Given the description of an element on the screen output the (x, y) to click on. 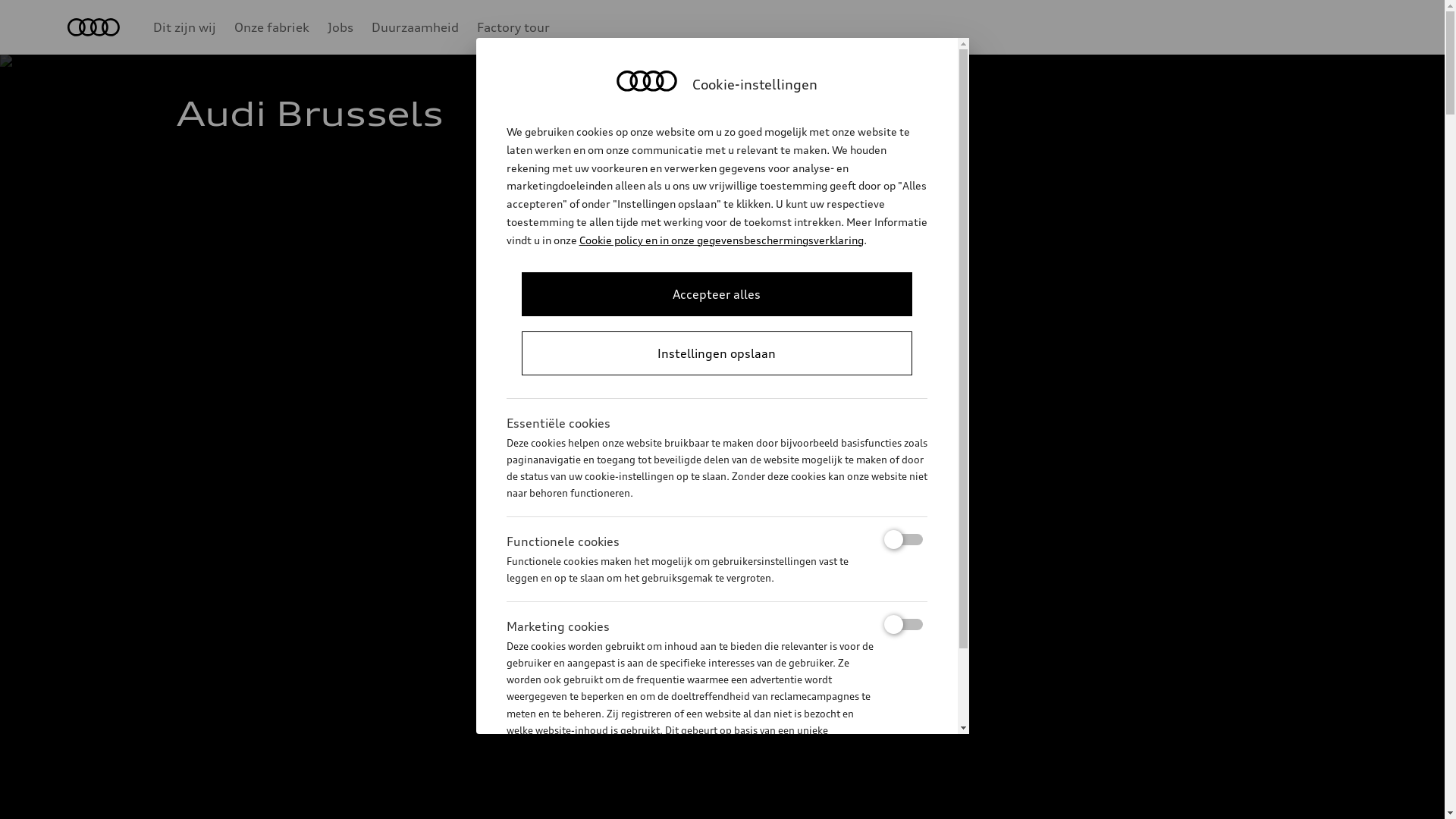
Onze fabriek Element type: text (270, 27)
Jobs Element type: text (340, 27)
Instellingen opslaan Element type: text (716, 353)
Dit zijn wij Element type: text (184, 27)
Accepteer alles Element type: text (716, 294)
Cookie policy en in onze gegevensbeschermingsverklaring Element type: text (721, 239)
Duurzaamheid Element type: text (414, 27)
Factory tour Element type: text (512, 27)
